Given the description of an element on the screen output the (x, y) to click on. 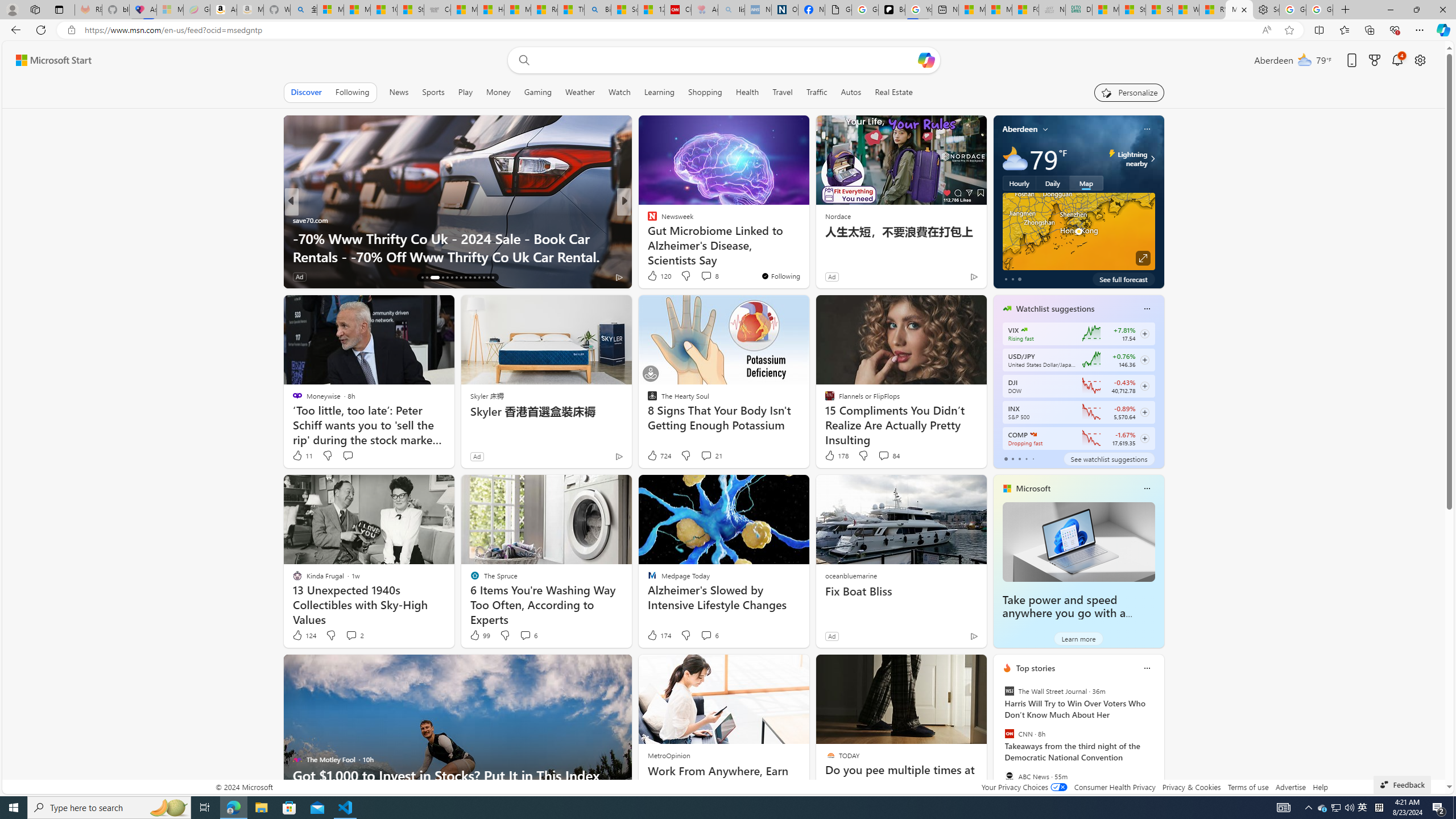
The Gracious Pantry (647, 219)
Class: icon-img (1146, 668)
View comments 203 Comment (703, 276)
Microsoft (1033, 488)
Be Smart | creating Science videos | Patreon (891, 9)
Class: follow-button  m (1144, 438)
Daily Mail (647, 219)
Enter your search term (726, 59)
Class: weather-arrow-glyph (1152, 158)
